Given the description of an element on the screen output the (x, y) to click on. 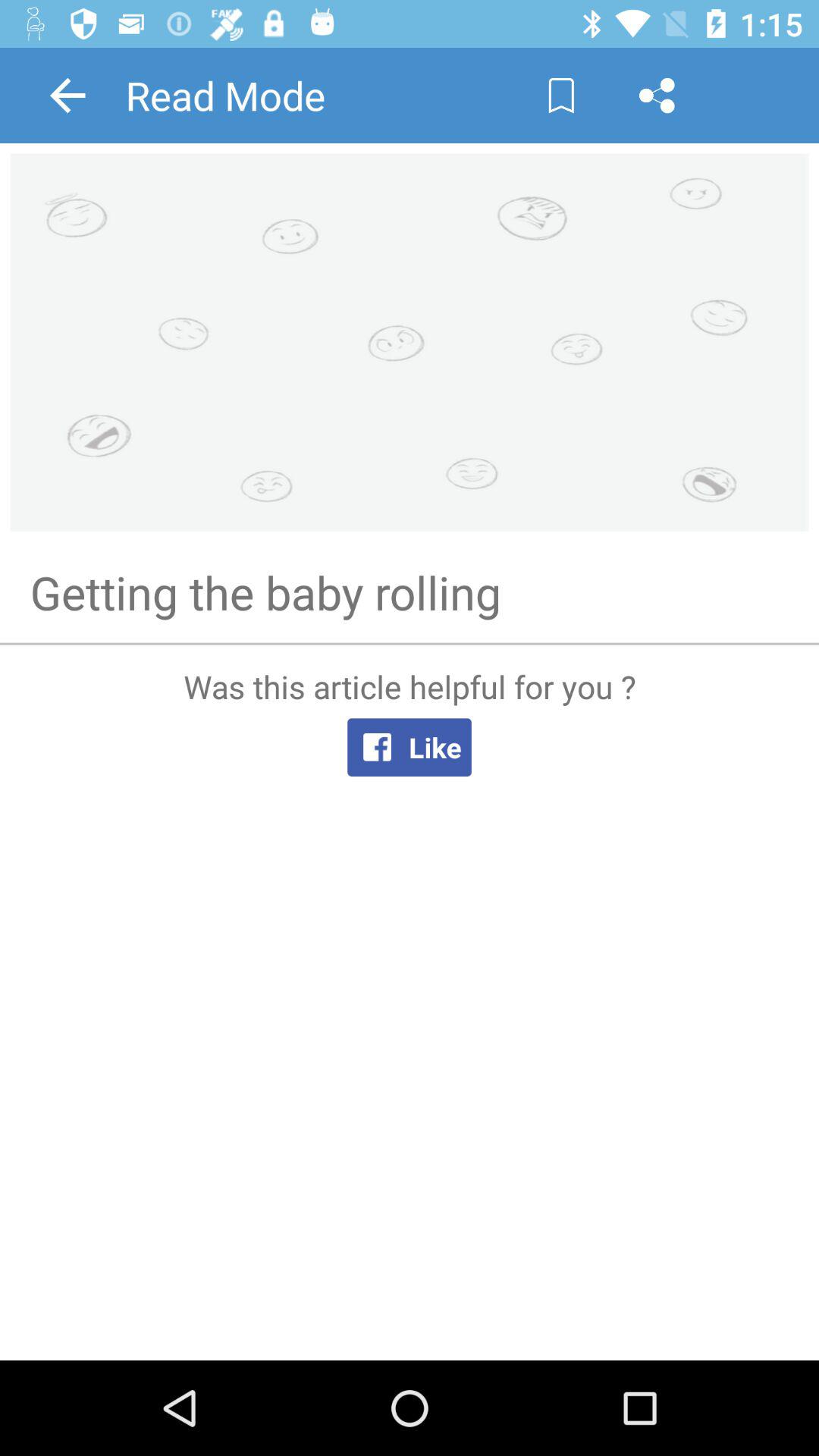
go to back (67, 95)
